Given the description of an element on the screen output the (x, y) to click on. 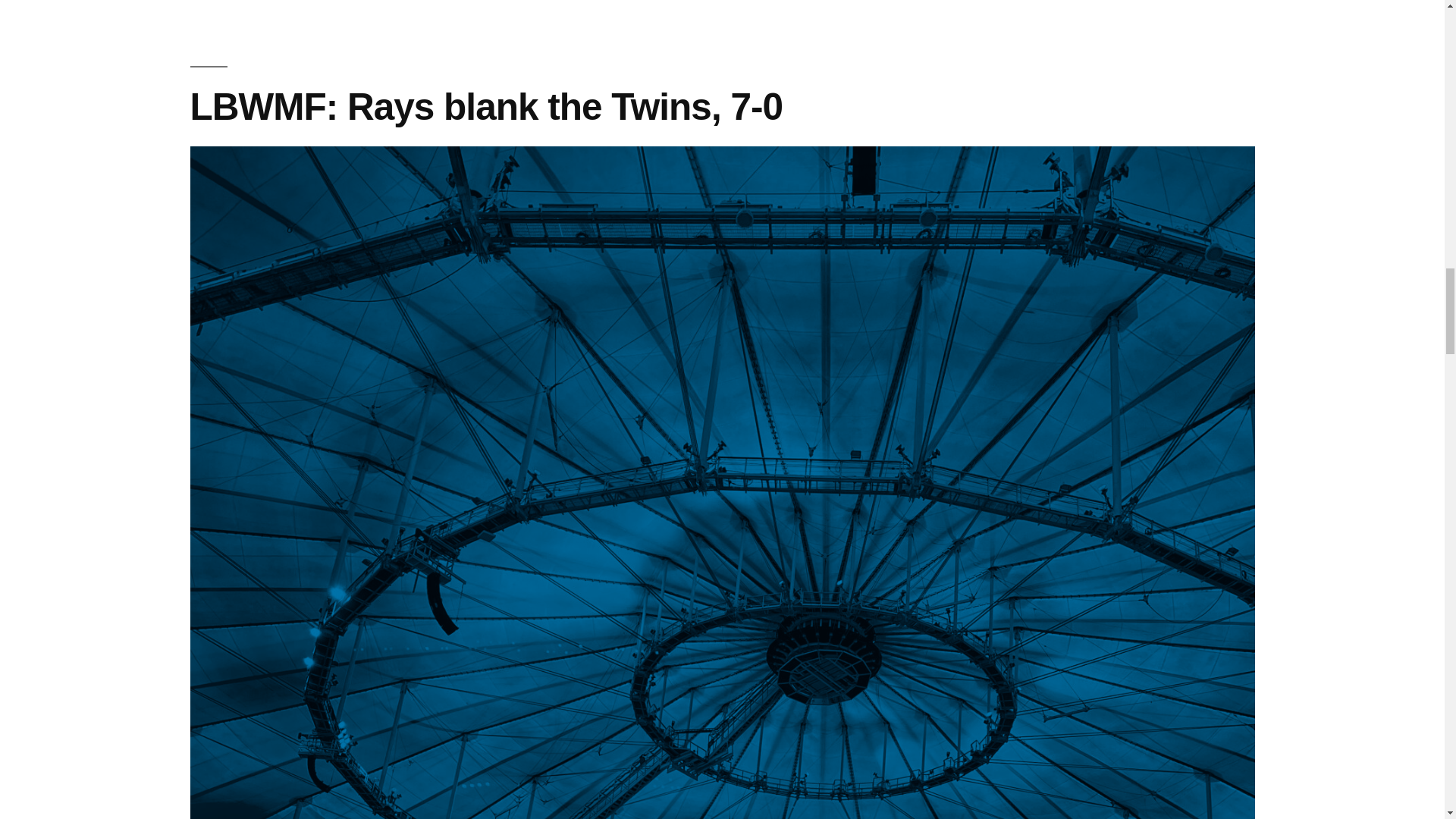
LBWMF: Rays blank the Twins, 7-0 (486, 106)
